Given the description of an element on the screen output the (x, y) to click on. 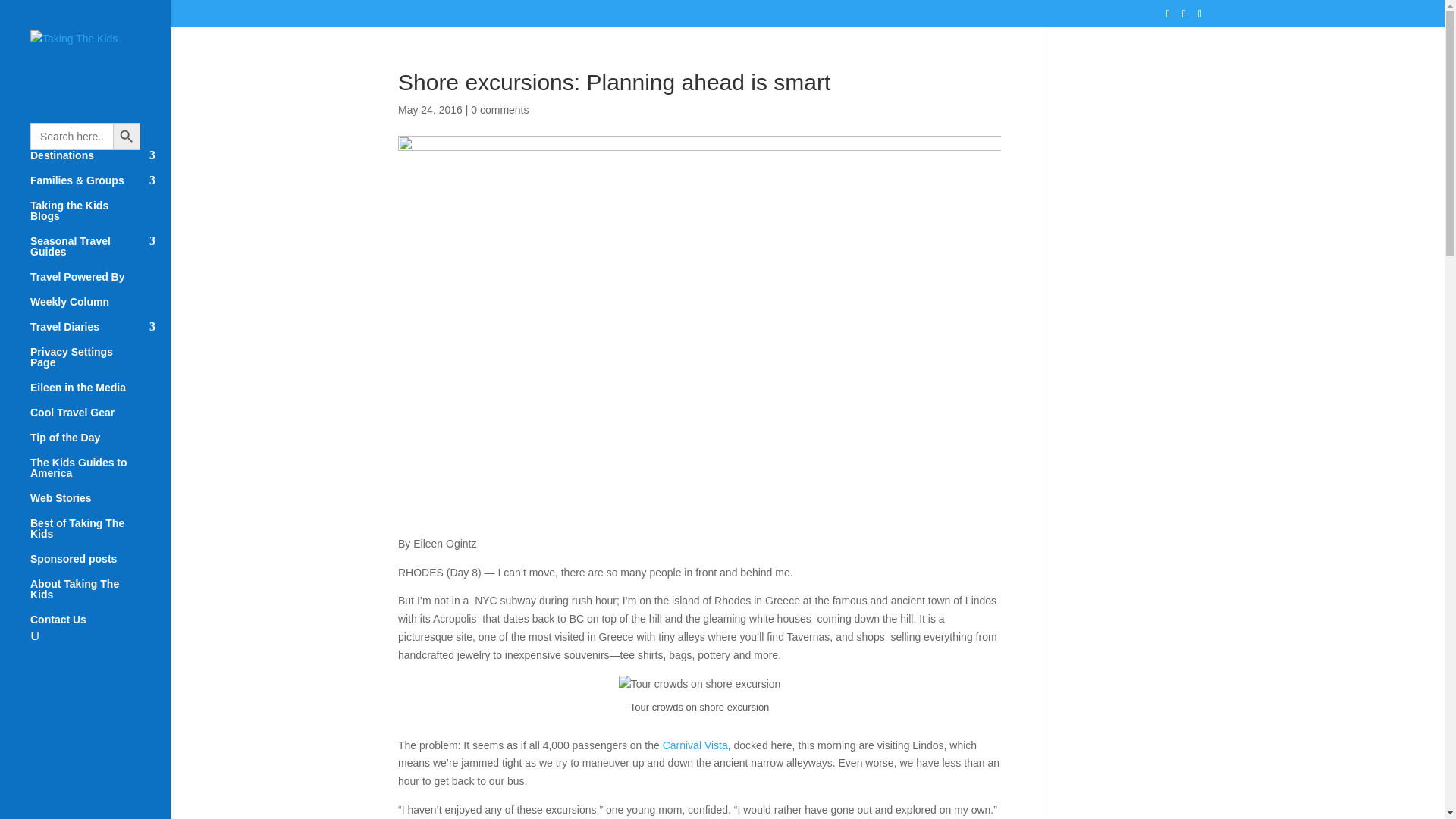
Sponsored posts (100, 565)
Search Button (126, 135)
Travel Diaries (100, 333)
Cool Travel Gear (100, 419)
Weekly Column (100, 308)
Tip of the Day (100, 444)
Destinations (100, 162)
Eileen in the Media (100, 394)
Best of Taking The Kids (100, 535)
Seasonal Travel Guides (100, 253)
Taking the Kids Blogs (100, 217)
Privacy Settings Page (100, 364)
Web Stories (100, 505)
The Kids Guides to America (100, 475)
Travel Powered By (100, 283)
